Given the description of an element on the screen output the (x, y) to click on. 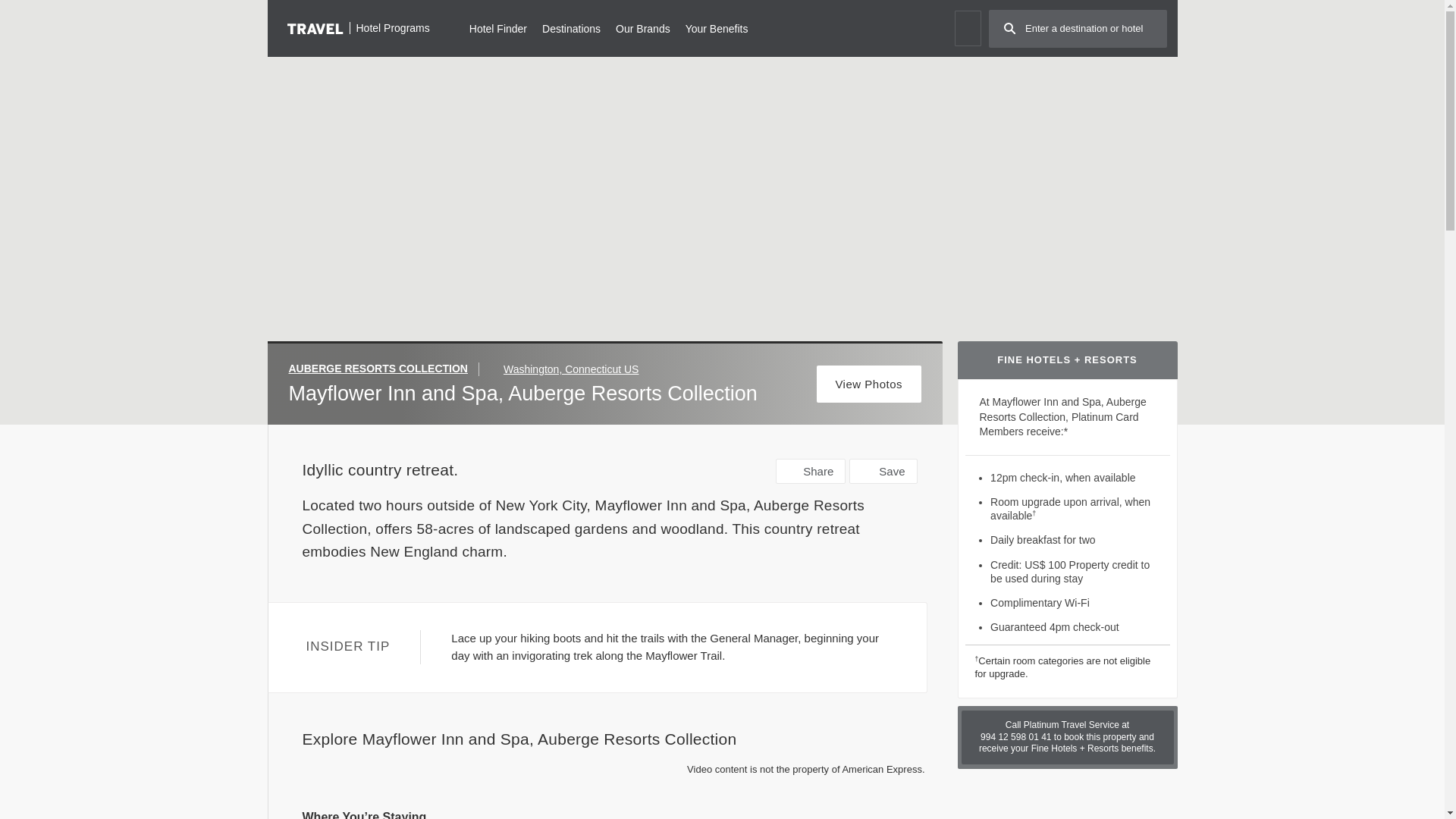
AUBERGE RESORTS COLLECTION (383, 368)
Washington, Connecticut US (571, 369)
Our Brands (642, 27)
Favorites (966, 27)
Save (882, 471)
View Photos (868, 383)
Your Benefits (716, 27)
Hotel Programs (357, 27)
Destinations (570, 27)
Hotel Finder (497, 27)
Share (810, 471)
